Given the description of an element on the screen output the (x, y) to click on. 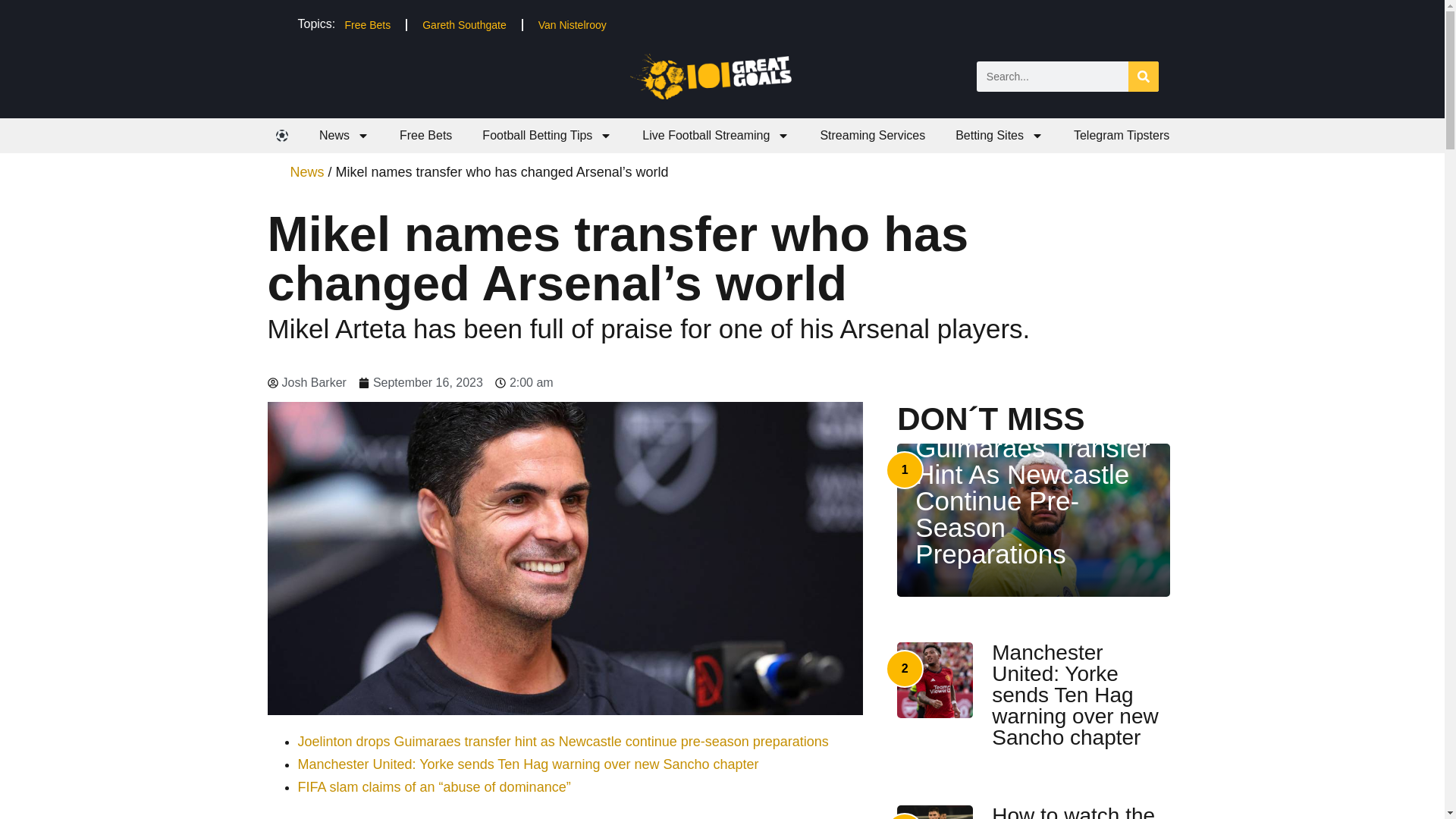
Football Betting Tips (547, 135)
Van Nistelrooy (571, 24)
Streaming Services (872, 135)
Gareth Southgate (464, 24)
News (344, 135)
Free Bets (425, 135)
Free Bets (367, 24)
Betting Sites (999, 135)
Live Football Streaming (716, 135)
